Given the description of an element on the screen output the (x, y) to click on. 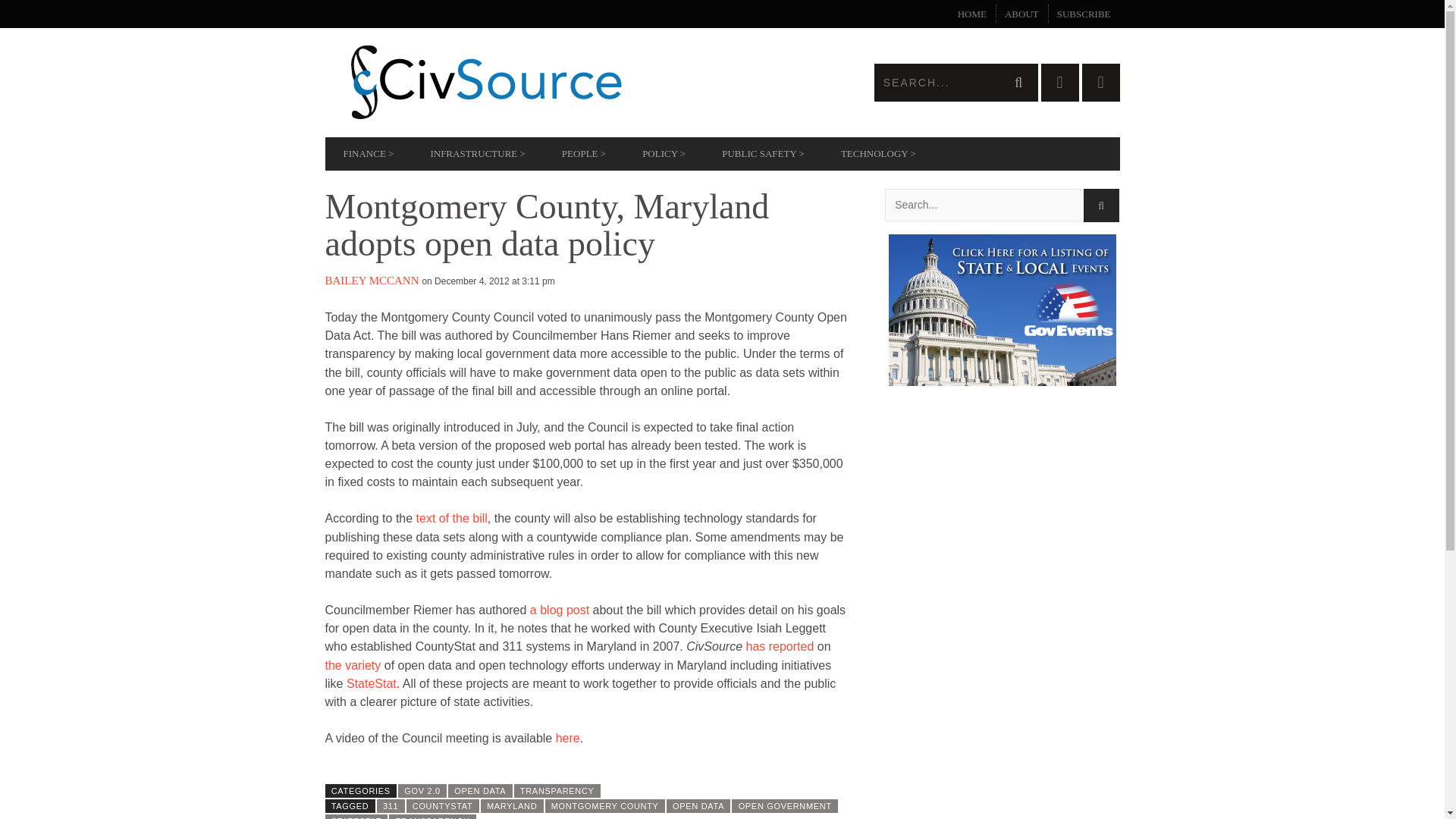
View all posts tagged open data (698, 806)
Posts by Bailey McCann (371, 280)
View all posts tagged CountyStat (442, 806)
View all posts in Open Data (480, 790)
View all posts tagged open government (785, 806)
View all posts tagged transparency (432, 816)
CivSource (523, 82)
View all posts tagged 311 (390, 806)
View all posts tagged statestat (355, 816)
View all posts in Gov 2.0 (421, 790)
View all posts tagged Montgomery County (604, 806)
View all posts in Transparency (556, 790)
View all posts tagged Maryland (511, 806)
